Given the description of an element on the screen output the (x, y) to click on. 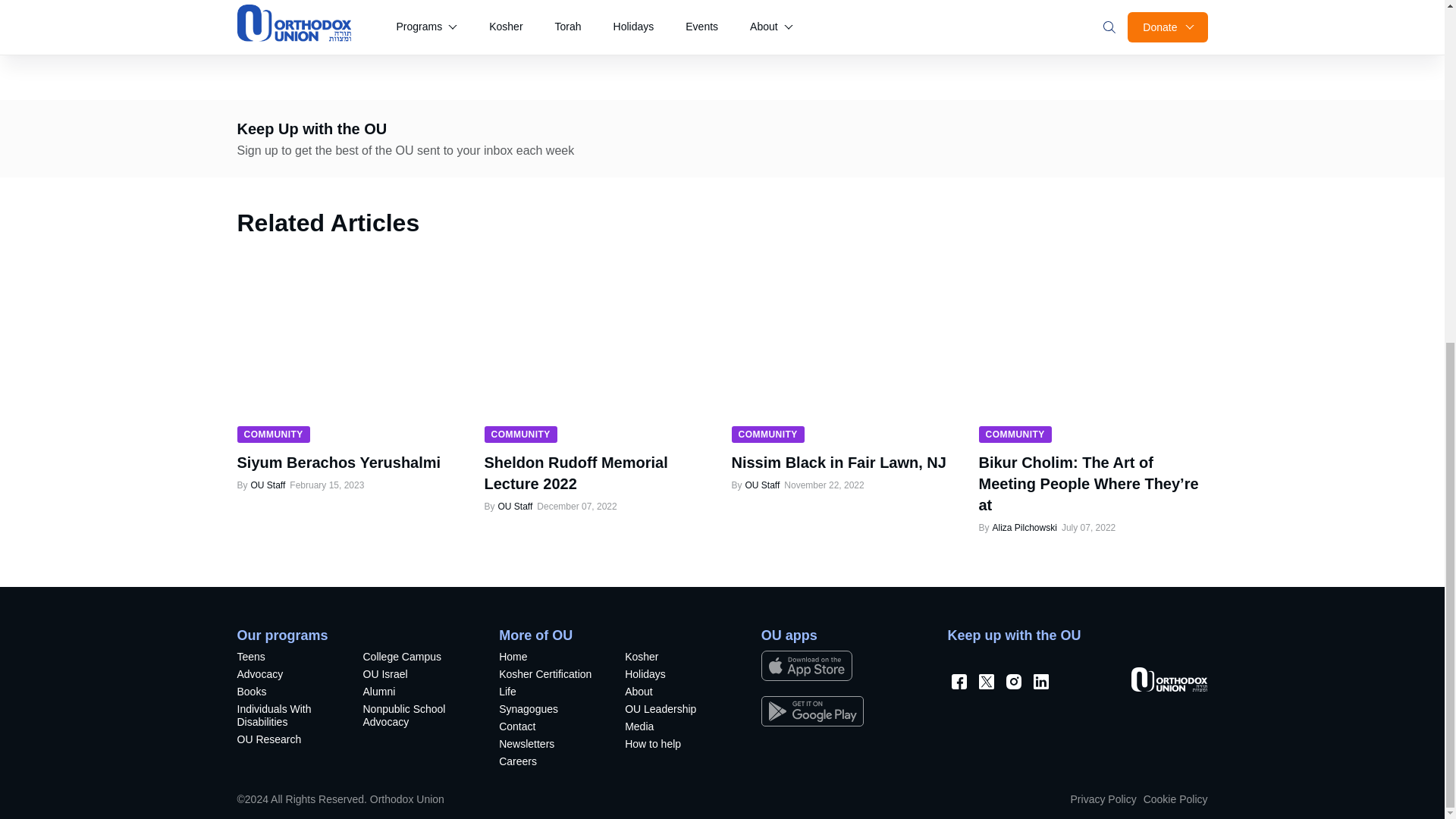
Posts by OU Staff (762, 484)
How to get kosher certification (549, 675)
OU Research (286, 741)
Posts by OU Staff (266, 484)
